Given the description of an element on the screen output the (x, y) to click on. 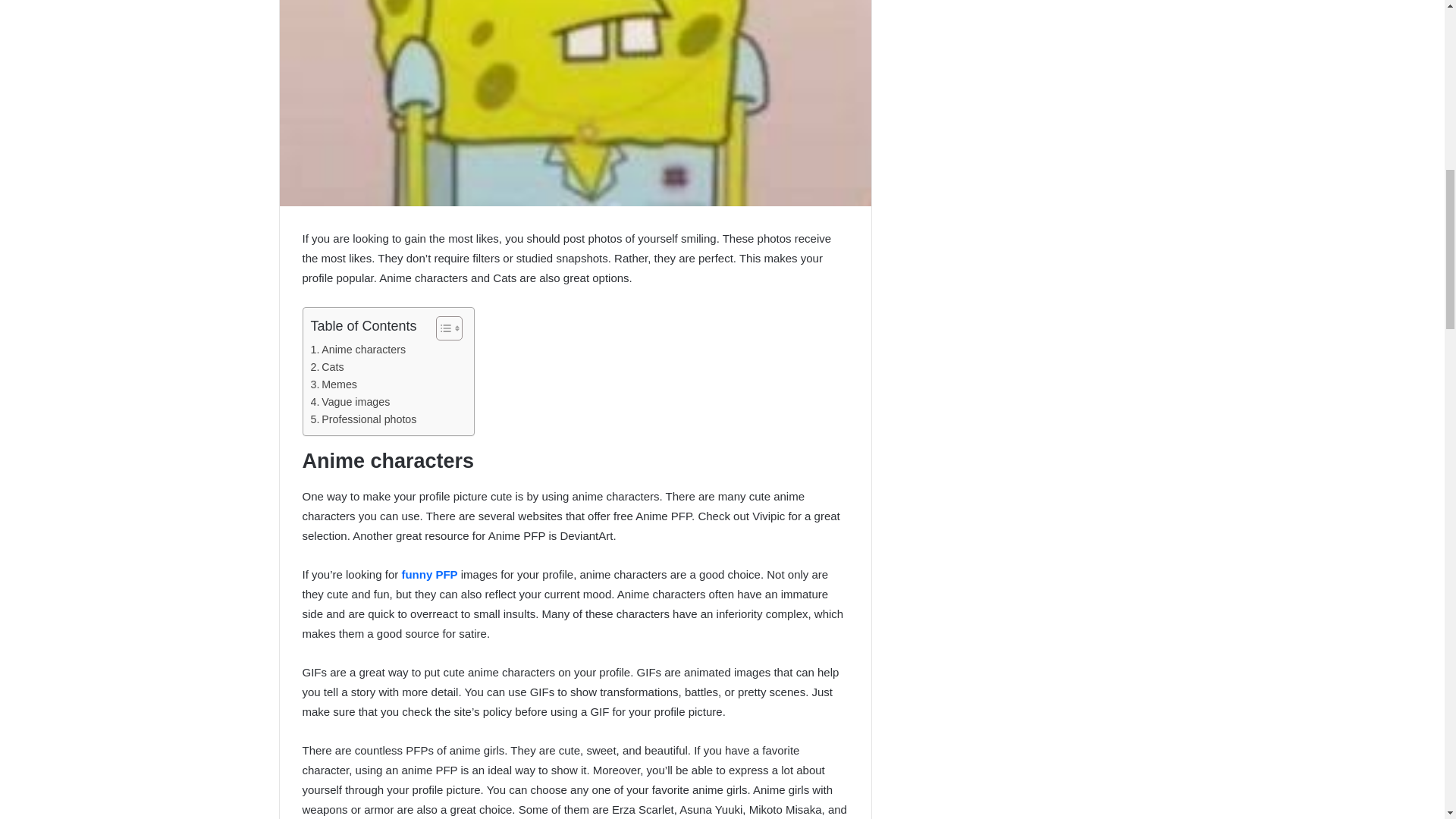
Anime characters (358, 349)
Cats (327, 366)
Vague images (350, 402)
Professional photos (363, 419)
Memes (333, 384)
